Given the description of an element on the screen output the (x, y) to click on. 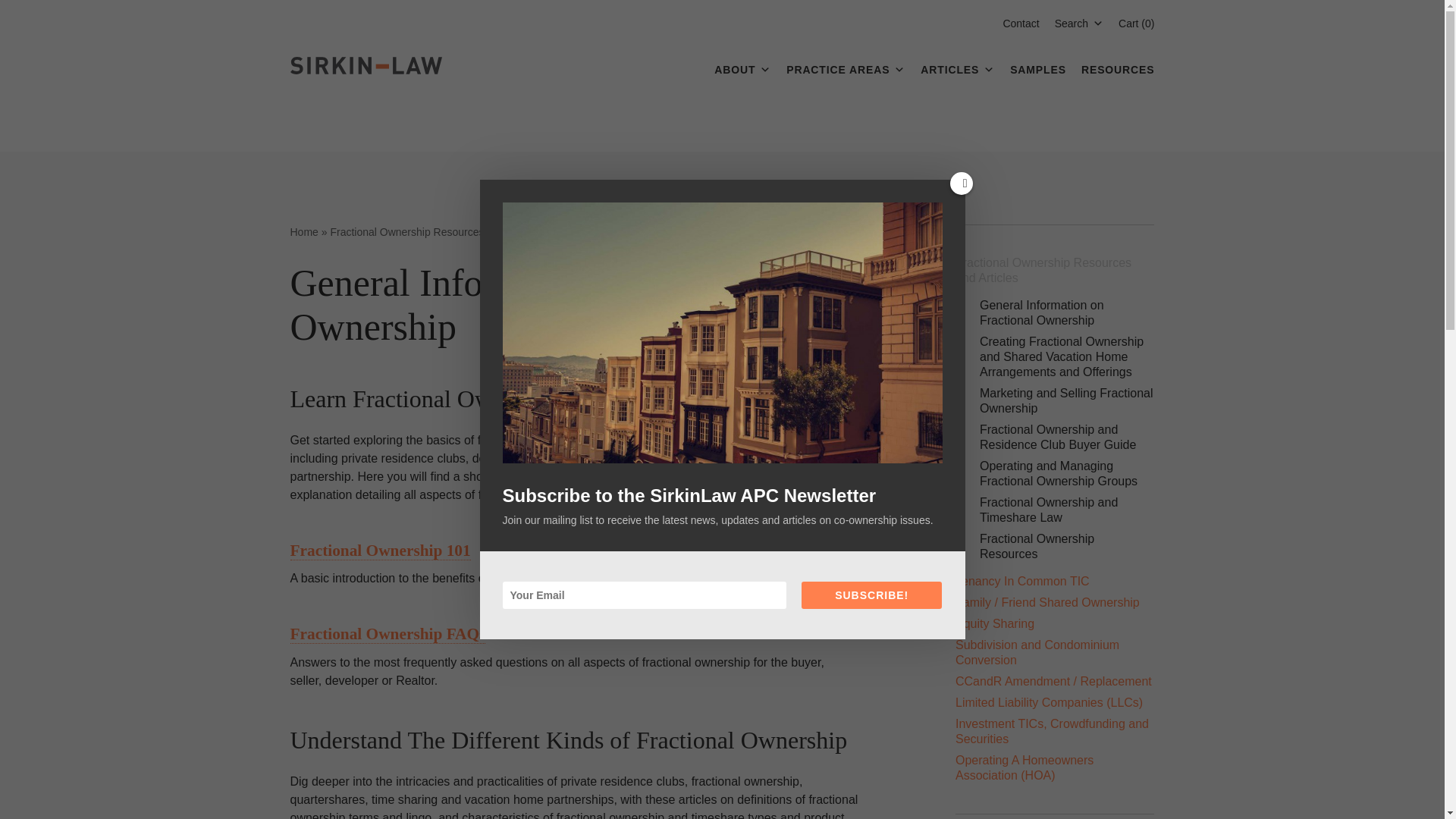
SAMPLES (1037, 61)
Search (1078, 23)
General Information on Fractional Ownership (1041, 312)
Search (1083, 74)
Home (304, 232)
Contact (1021, 23)
Fractional Ownership Resources and Articles (1043, 270)
PRACTICE AREAS (845, 61)
SirkinLaw APC! (365, 65)
ARTICLES (957, 61)
Go to SirkinLaw APC!. (304, 232)
Fractional Ownership 101 (379, 550)
Fractional Ownership FAQs (386, 633)
RESOURCES (1117, 61)
Go to Fractional Ownership Resources and Articles. (435, 232)
